Given the description of an element on the screen output the (x, y) to click on. 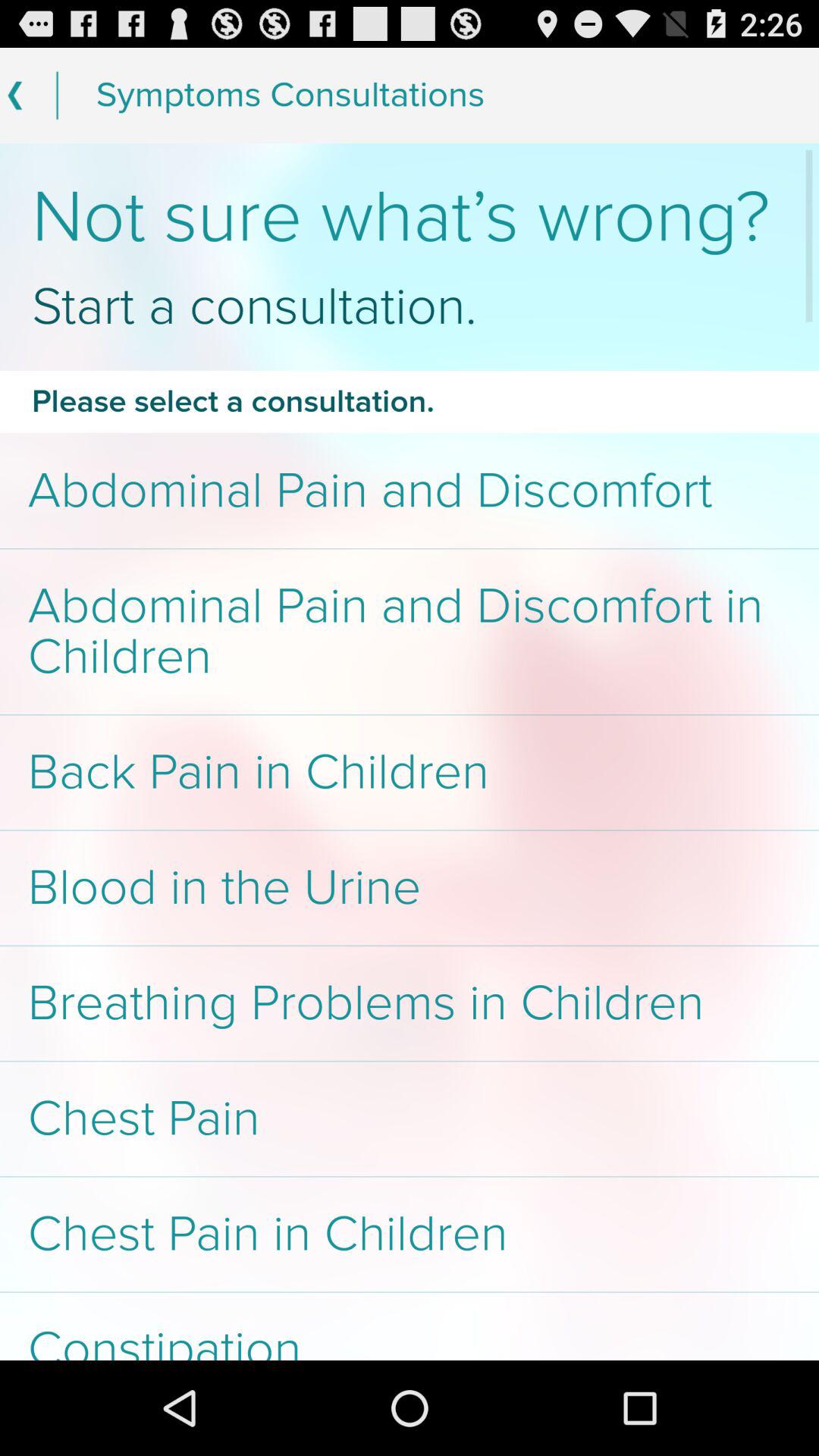
choose the item above start a consultation. item (409, 217)
